Given the description of an element on the screen output the (x, y) to click on. 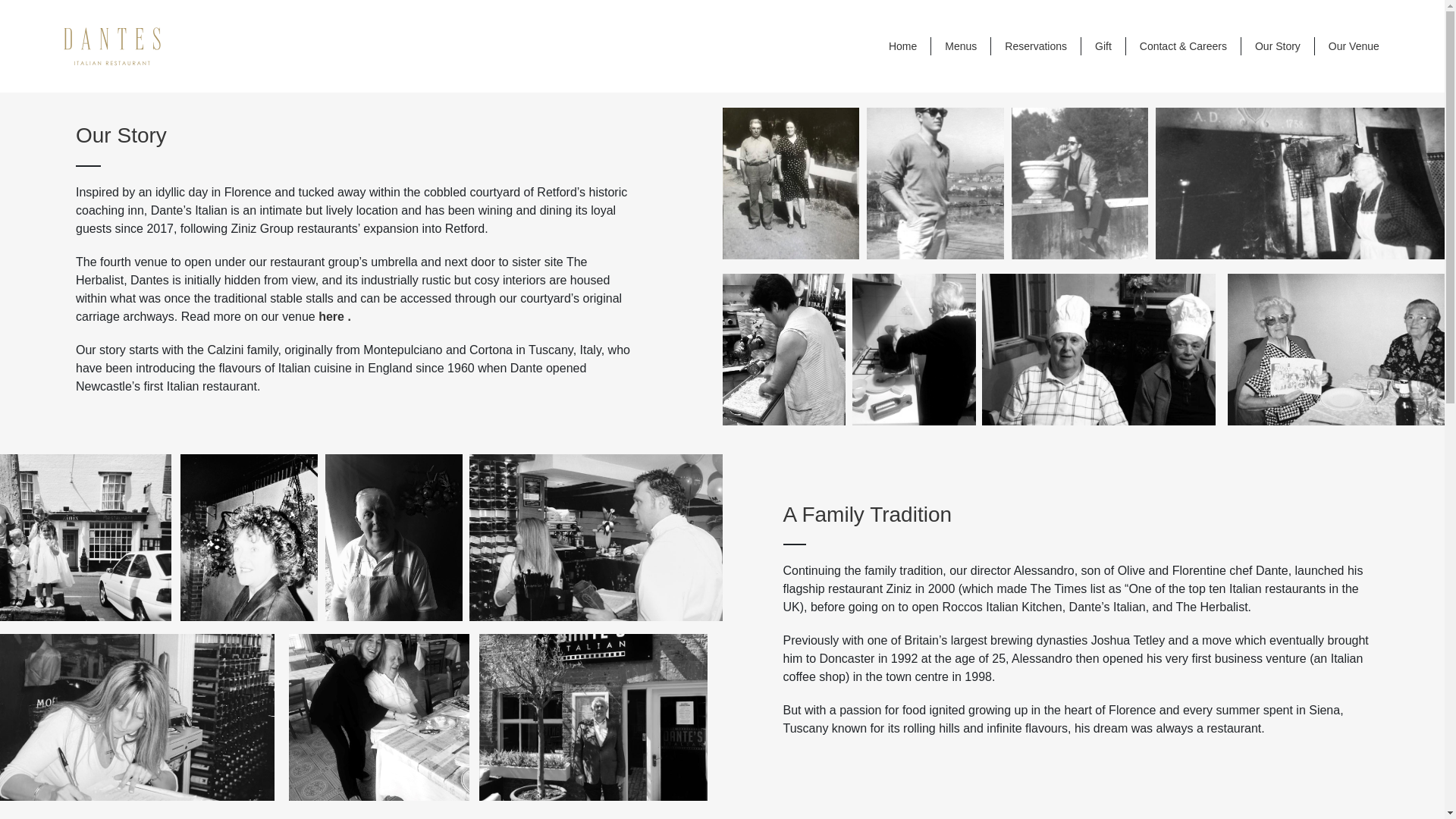
Home (902, 45)
Page 4 (352, 289)
Gift (1103, 45)
Reservations (1035, 45)
here . (334, 316)
Our Story (1277, 45)
Menus (960, 45)
Page 4 (1075, 649)
Our Venue (1352, 45)
